Given the description of an element on the screen output the (x, y) to click on. 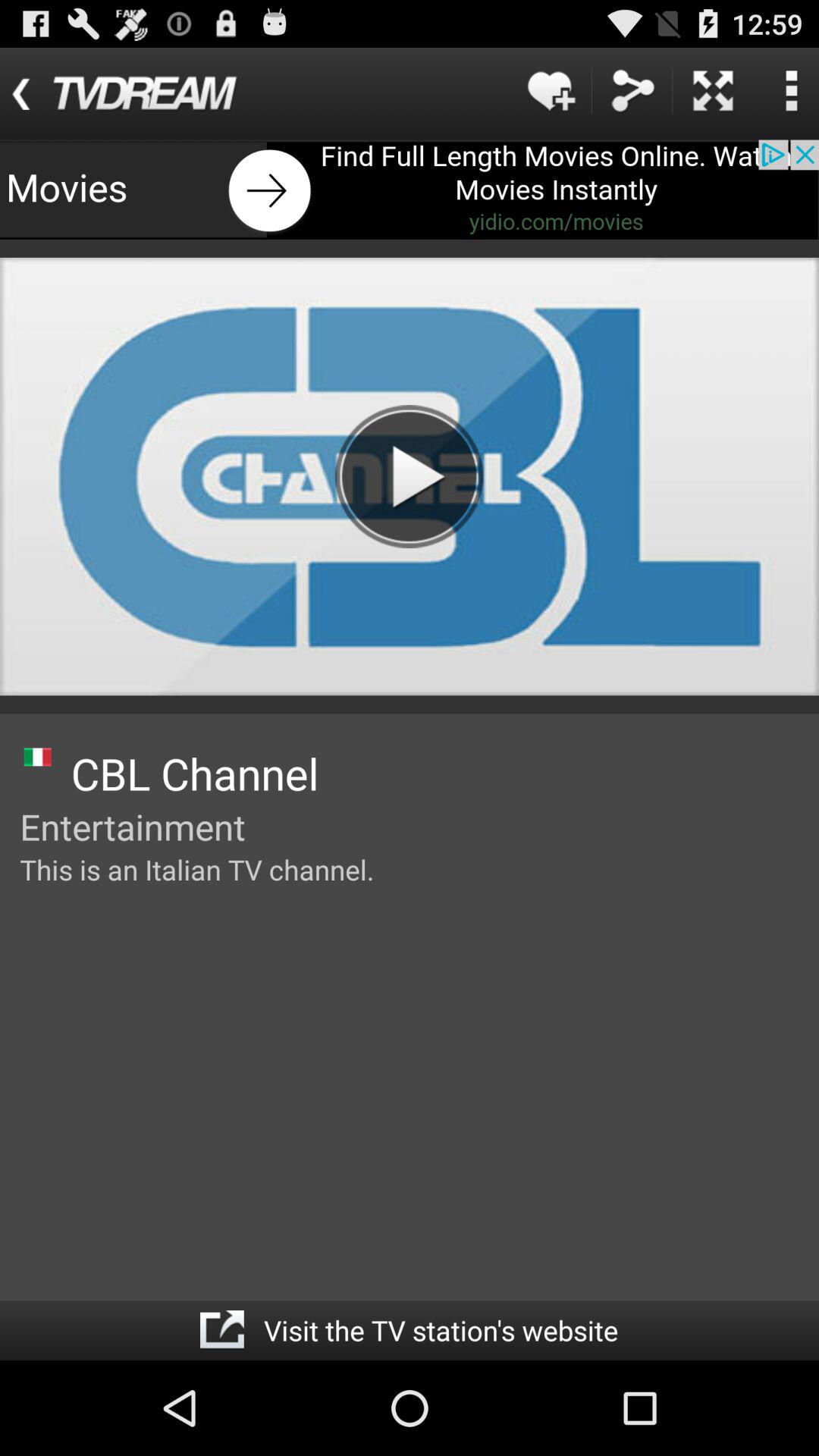
access settings (791, 90)
